Given the description of an element on the screen output the (x, y) to click on. 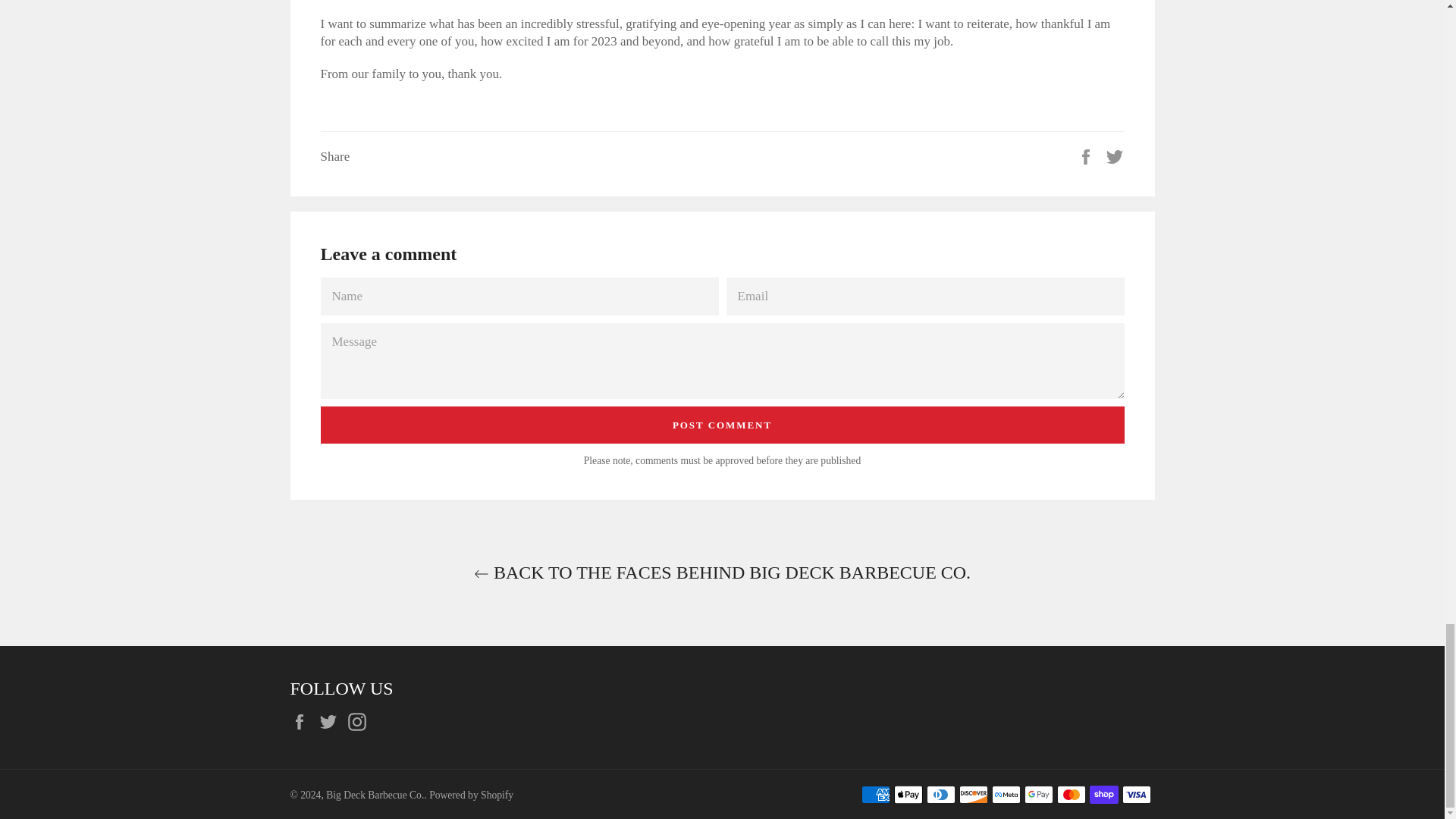
Twitter (331, 721)
Tweet on Twitter (1114, 155)
Share on Facebook (1087, 155)
BACK TO THE FACES BEHIND BIG DECK BARBECUE CO. (721, 572)
Big Deck Barbecue Co. on Instagram (360, 721)
Big Deck Barbecue Co. on Facebook (302, 721)
Facebook (302, 721)
Post comment (722, 425)
Post comment (722, 425)
Tweet on Twitter (1114, 155)
Big Deck Barbecue Co. (374, 794)
Share on Facebook (1087, 155)
Powered by Shopify (471, 794)
Big Deck Barbecue Co. on Twitter (331, 721)
Instagram (360, 721)
